Given the description of an element on the screen output the (x, y) to click on. 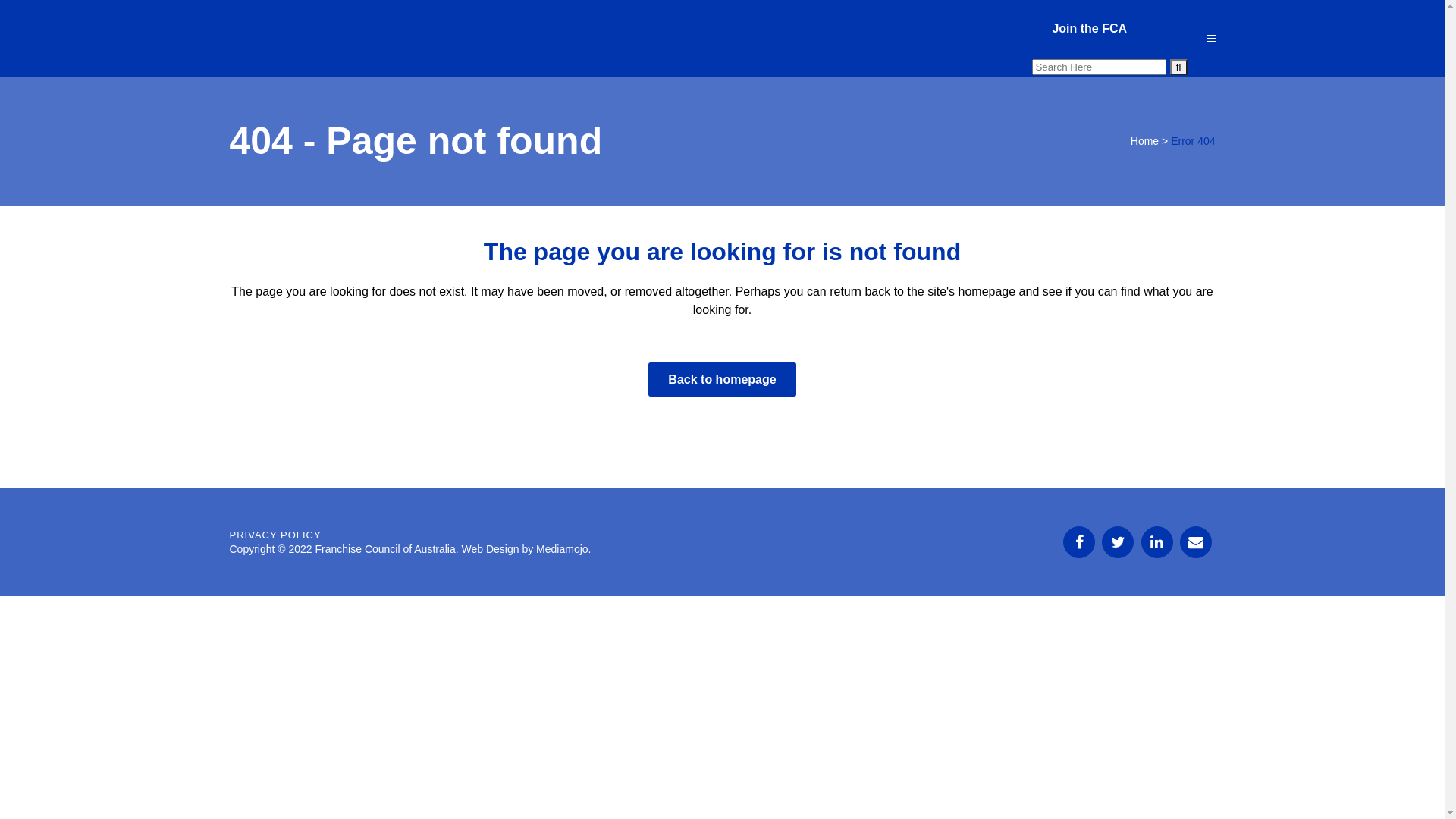
Back to homepage Element type: text (721, 379)
Home Element type: text (1144, 140)
Join the FCA Element type: text (1089, 28)
Web Design by Mediamojo. Element type: text (526, 548)
PRIVACY POLICY Element type: text (274, 534)
